Given the description of an element on the screen output the (x, y) to click on. 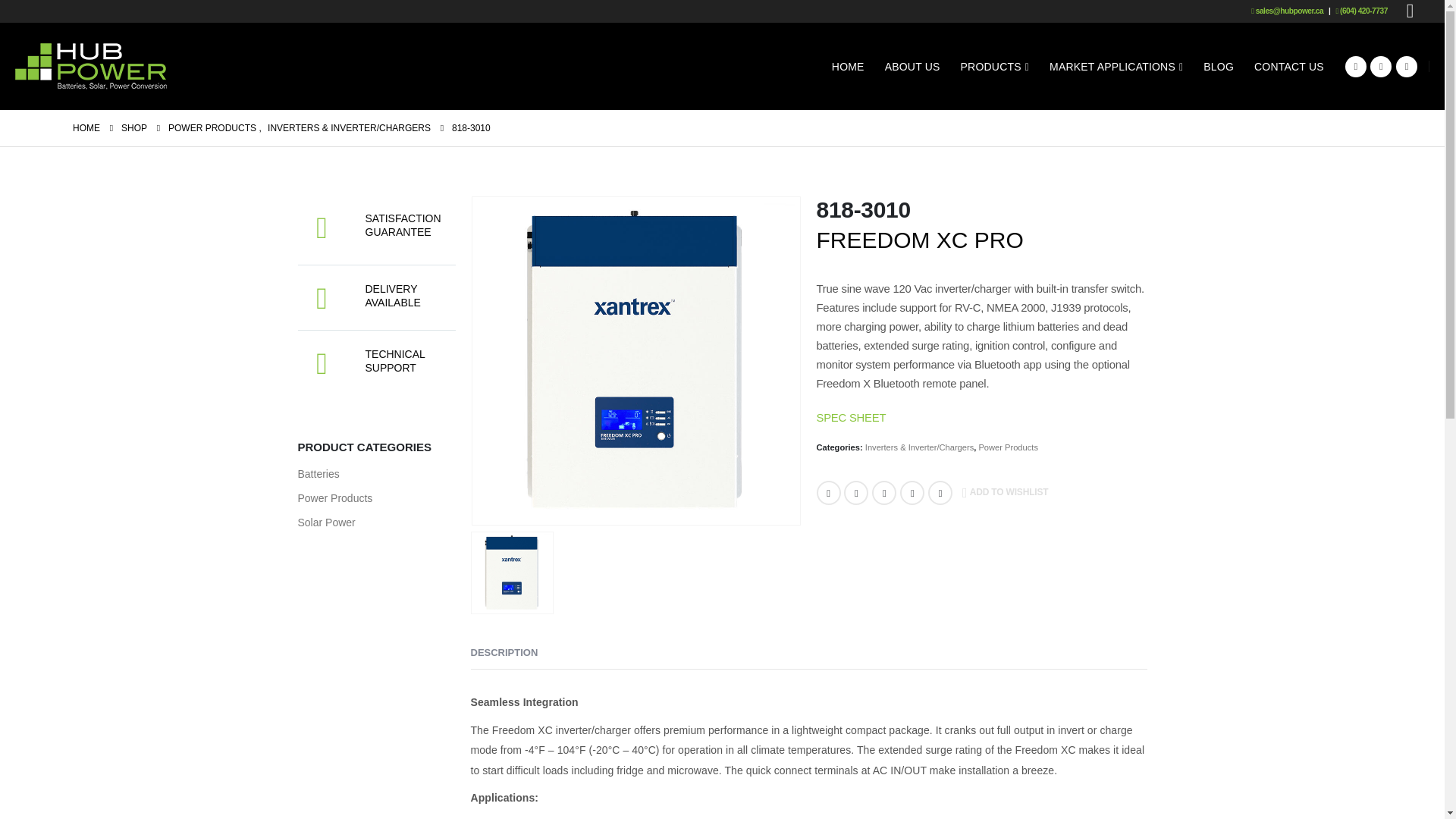
Twitter (1380, 66)
ABOUT US (912, 65)
Instagram (1406, 66)
PRODUCTS (994, 65)
Go to Home Page (86, 127)
Facebook (1356, 66)
LinkedIn (884, 492)
Twitter (855, 492)
